Given the description of an element on the screen output the (x, y) to click on. 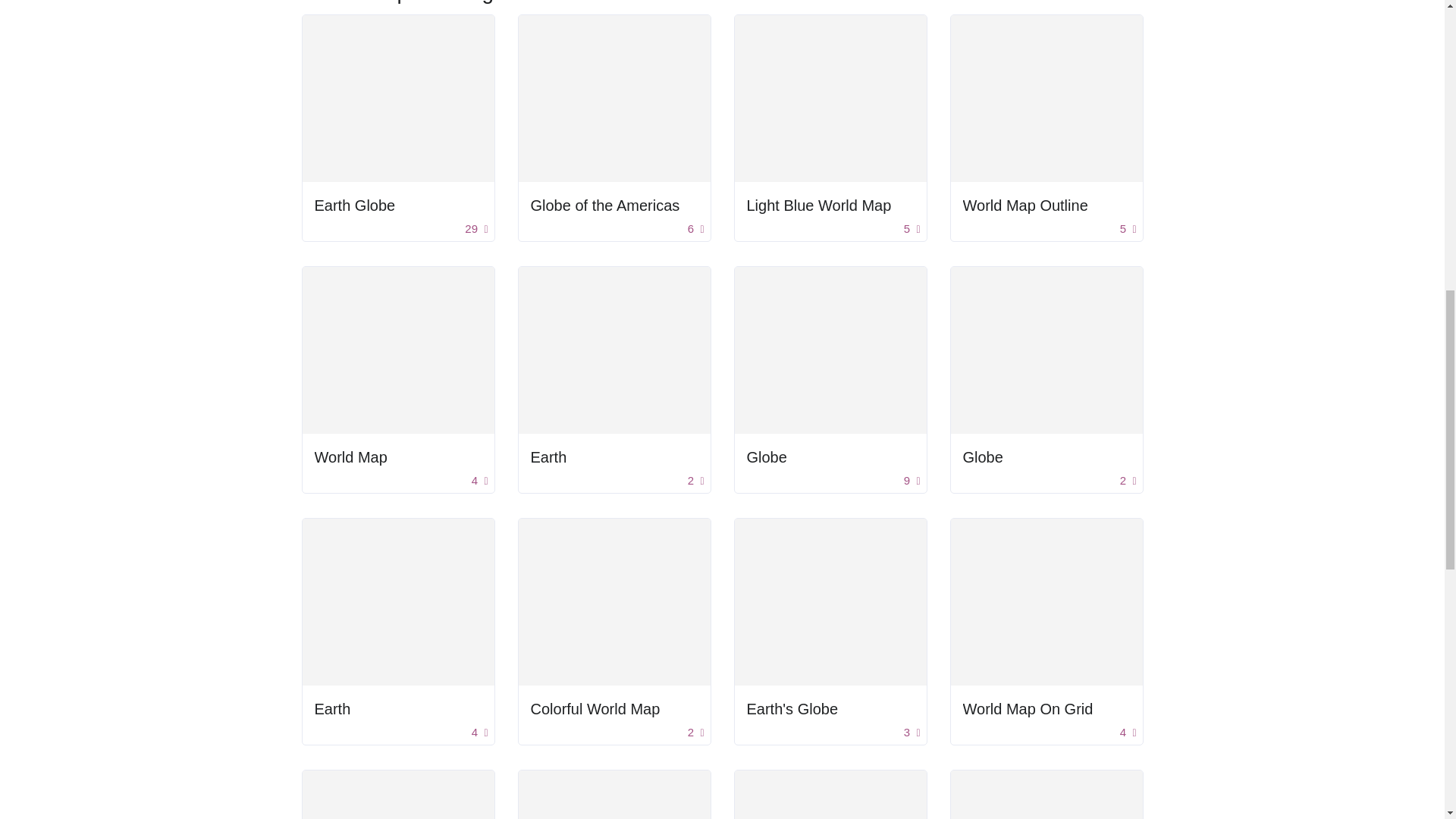
World Map (397, 456)
Globe (829, 456)
Colorful World Map (596, 709)
Earth (332, 709)
Light Blue World Map (829, 205)
5 people liked this (1128, 229)
2 people liked this (695, 480)
Earth (614, 456)
4 people liked this (479, 480)
World Map (350, 457)
